Given the description of an element on the screen output the (x, y) to click on. 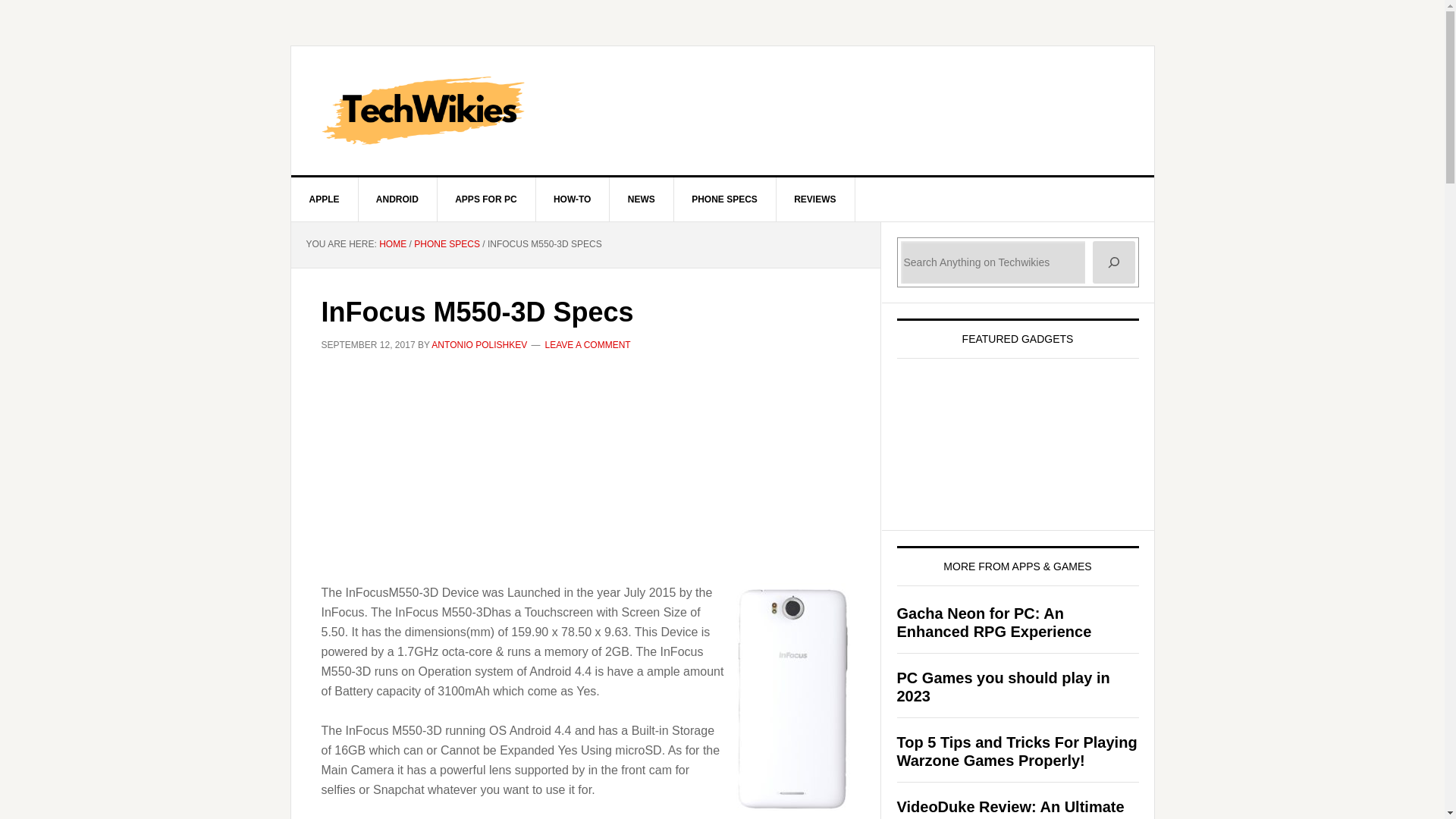
REVIEWS (815, 199)
APPS FOR PC (485, 199)
VideoDuke Review: An Ultimate Video Downloader For Mac (1010, 808)
14 Cool Gadgets Men can't Resist Buying from Amazon (1010, 433)
Top 5 Tips and Tricks For Playing Warzone Games Properly! (1016, 751)
PHONE SPECS (446, 244)
LEAVE A COMMENT (587, 344)
Gacha Neon for PC: An Enhanced RPG Experience (993, 622)
HOME (392, 244)
ANDROID (398, 199)
PC Games you should play in 2023 (1002, 686)
NEWS (642, 199)
Advertisement (585, 477)
HOW-TO (572, 199)
TECHWIKIES.COM (722, 110)
